Given the description of an element on the screen output the (x, y) to click on. 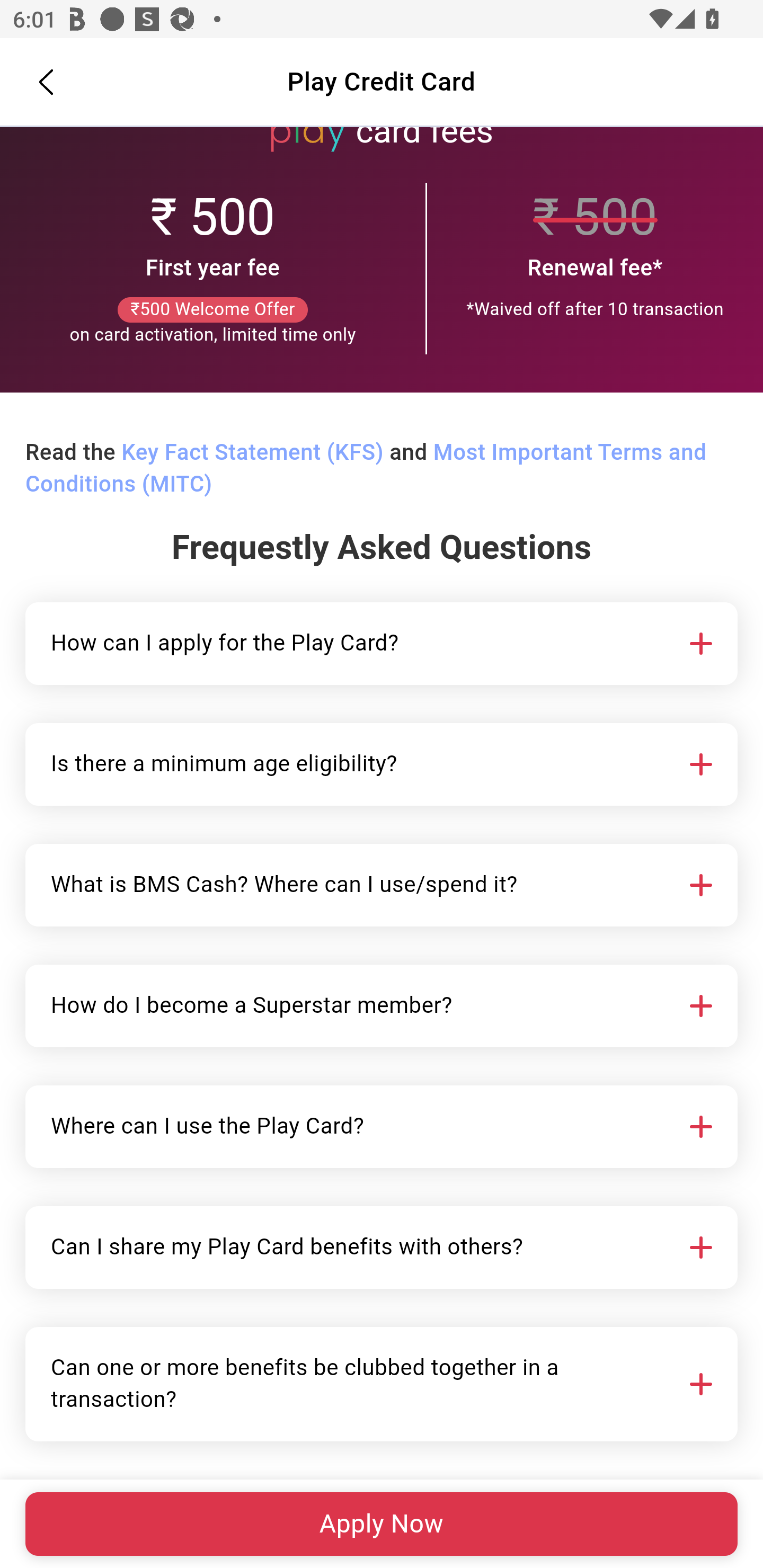
Most Important Terms and Conditions (MITC) (366, 469)
Key Fact Statement (KFS) (252, 453)
